Given the description of an element on the screen output the (x, y) to click on. 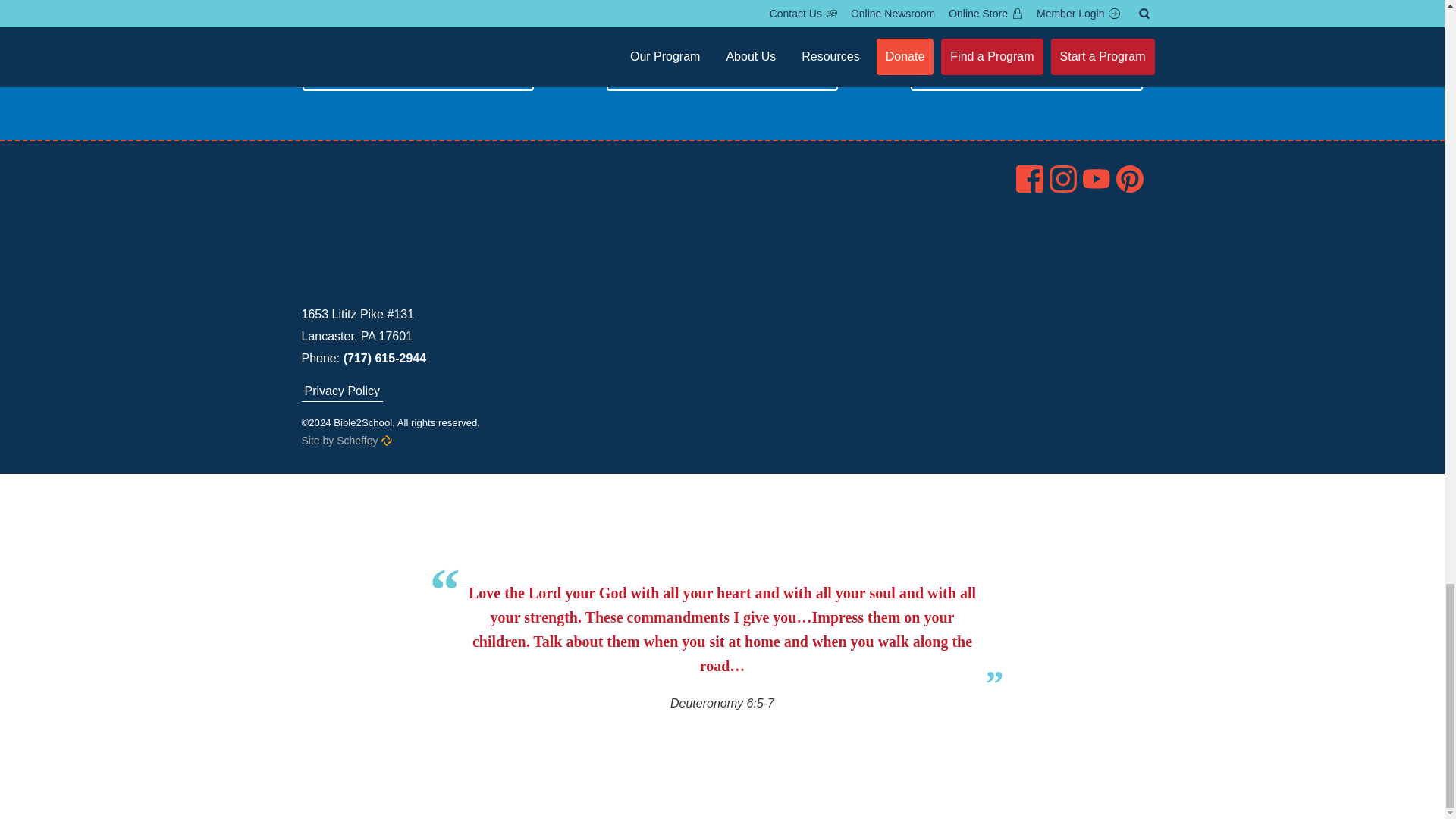
youtubeCreated with Sketch. (1096, 178)
instagramCreated with Sketch. (1063, 178)
facebook (1029, 178)
Listen (416, 73)
